Given the description of an element on the screen output the (x, y) to click on. 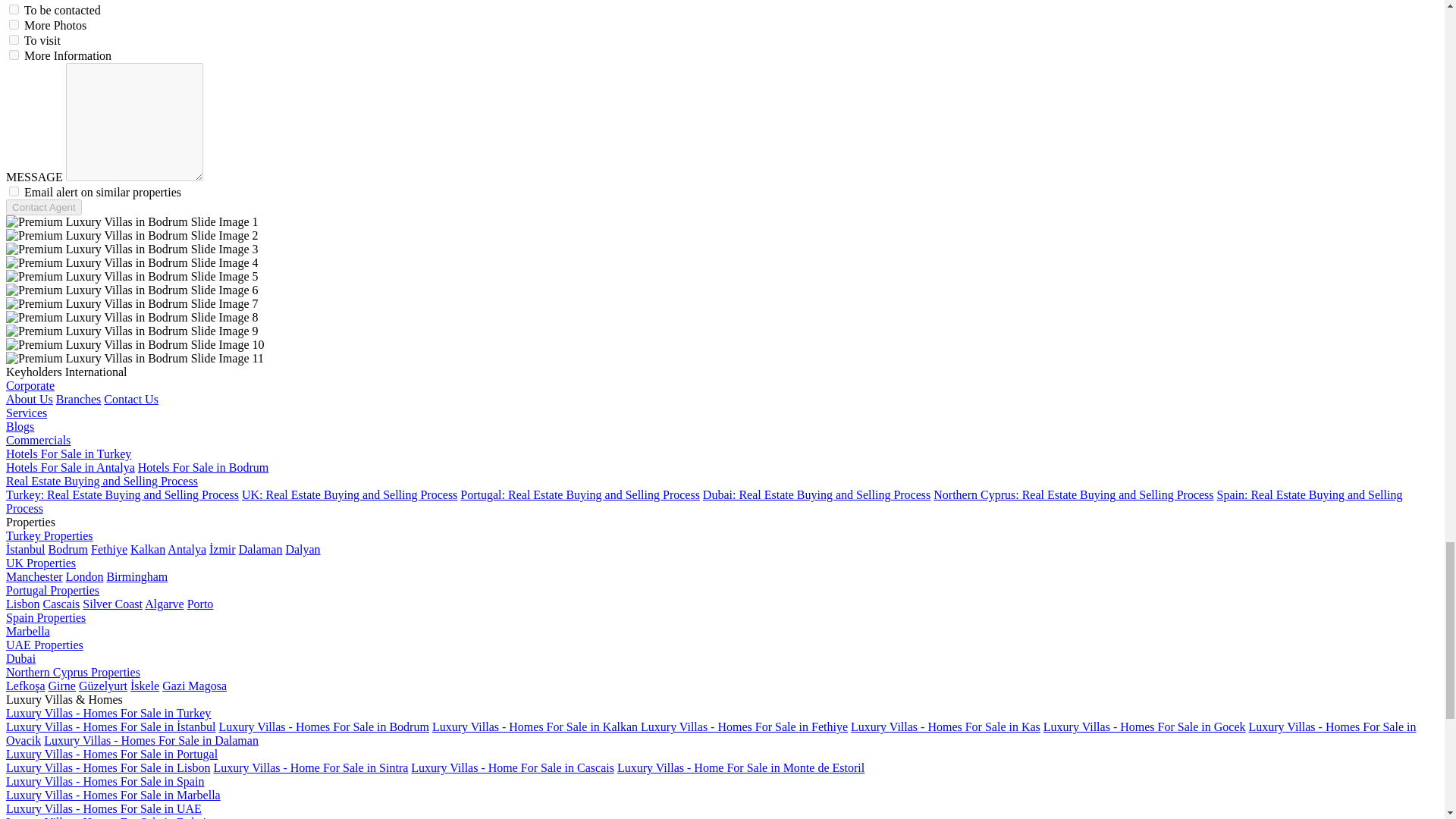
Email alert on similar properties (13, 191)
To be contacted (13, 9)
To visit (13, 40)
More Information (13, 54)
More Photos (13, 24)
